Given the description of an element on the screen output the (x, y) to click on. 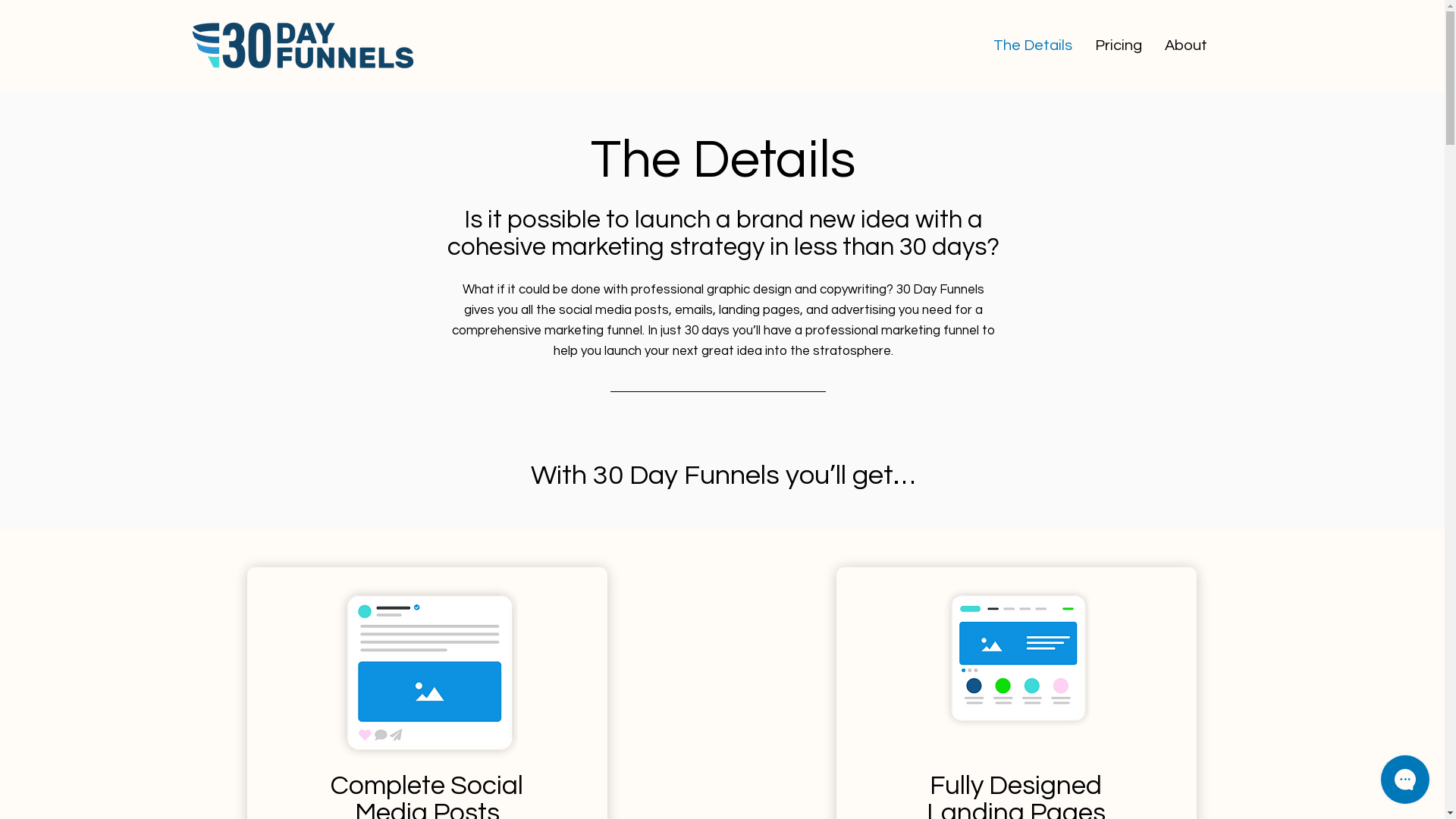
About Element type: text (1185, 45)
The Details Element type: text (1032, 45)
Pricing Element type: text (1118, 45)
